Given the description of an element on the screen output the (x, y) to click on. 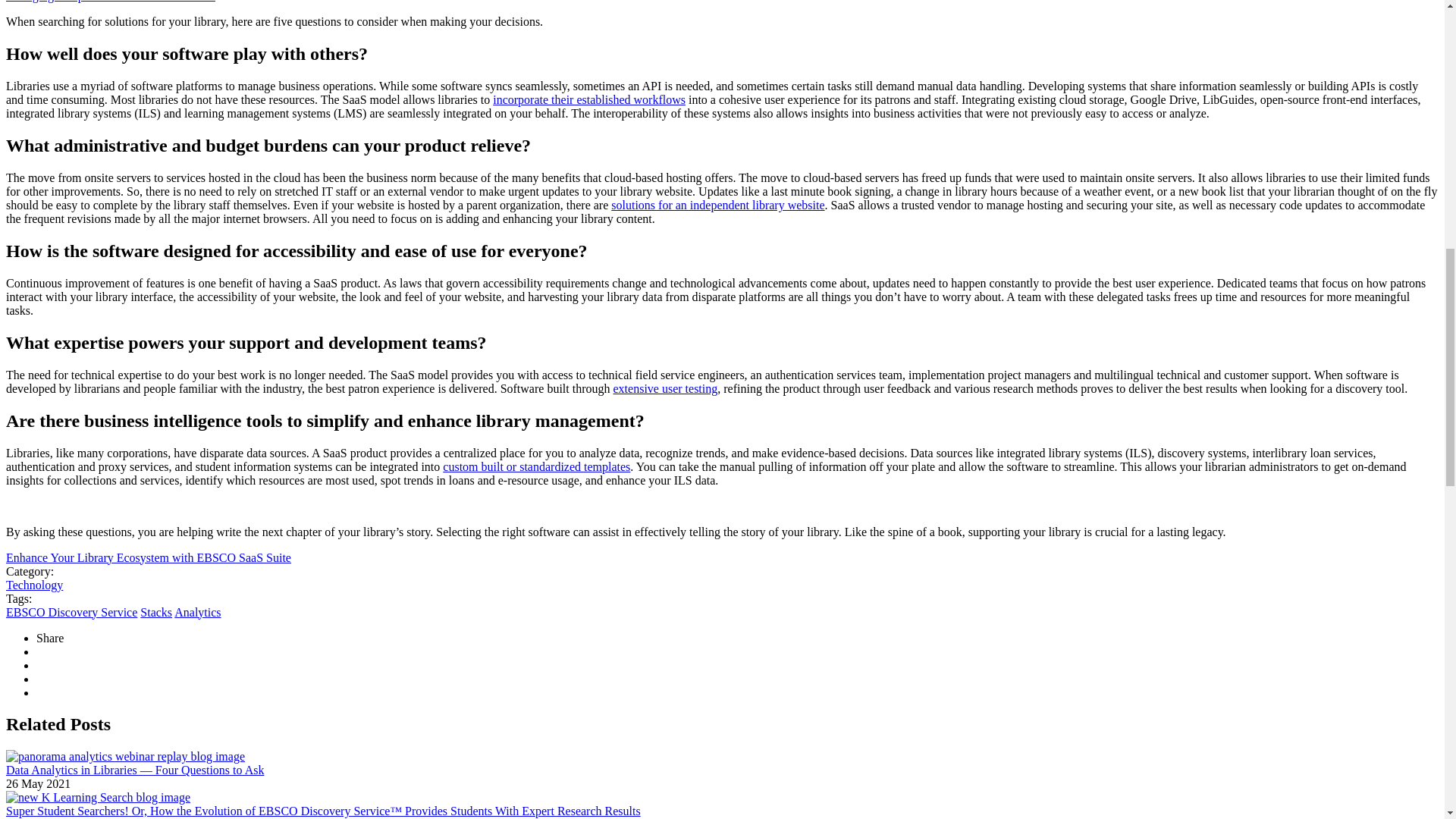
incorporate their established workflows (589, 99)
solutions for an independent library website (717, 205)
EBSCO Discovery Service (70, 611)
Enhance Your Library Ecosystem with EBSCO SaaS Suite (148, 556)
extensive user testing (664, 388)
Stacks (155, 611)
custom built or standardized templates (536, 465)
